Given the description of an element on the screen output the (x, y) to click on. 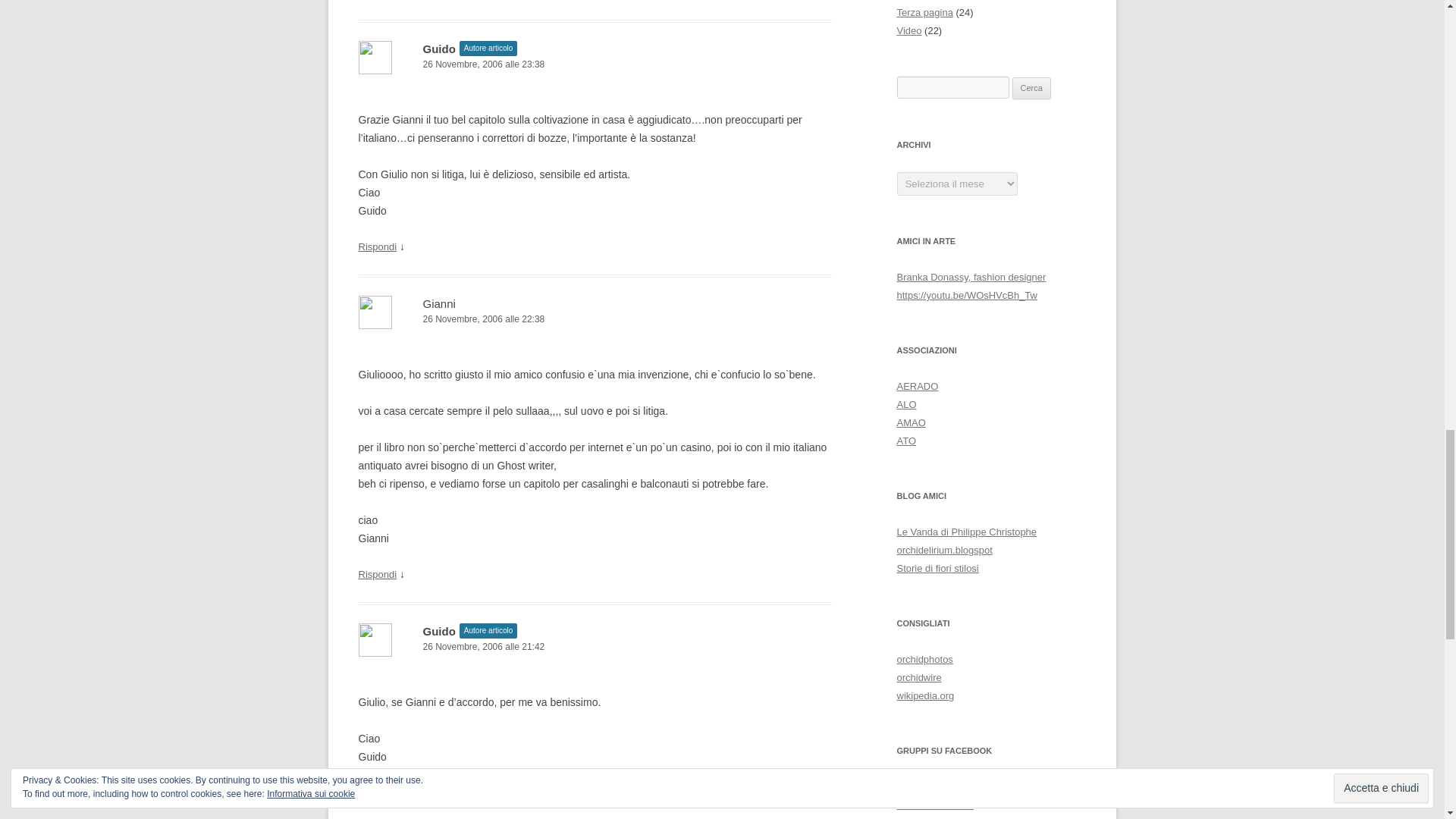
Cerca (1031, 87)
